Given the description of an element on the screen output the (x, y) to click on. 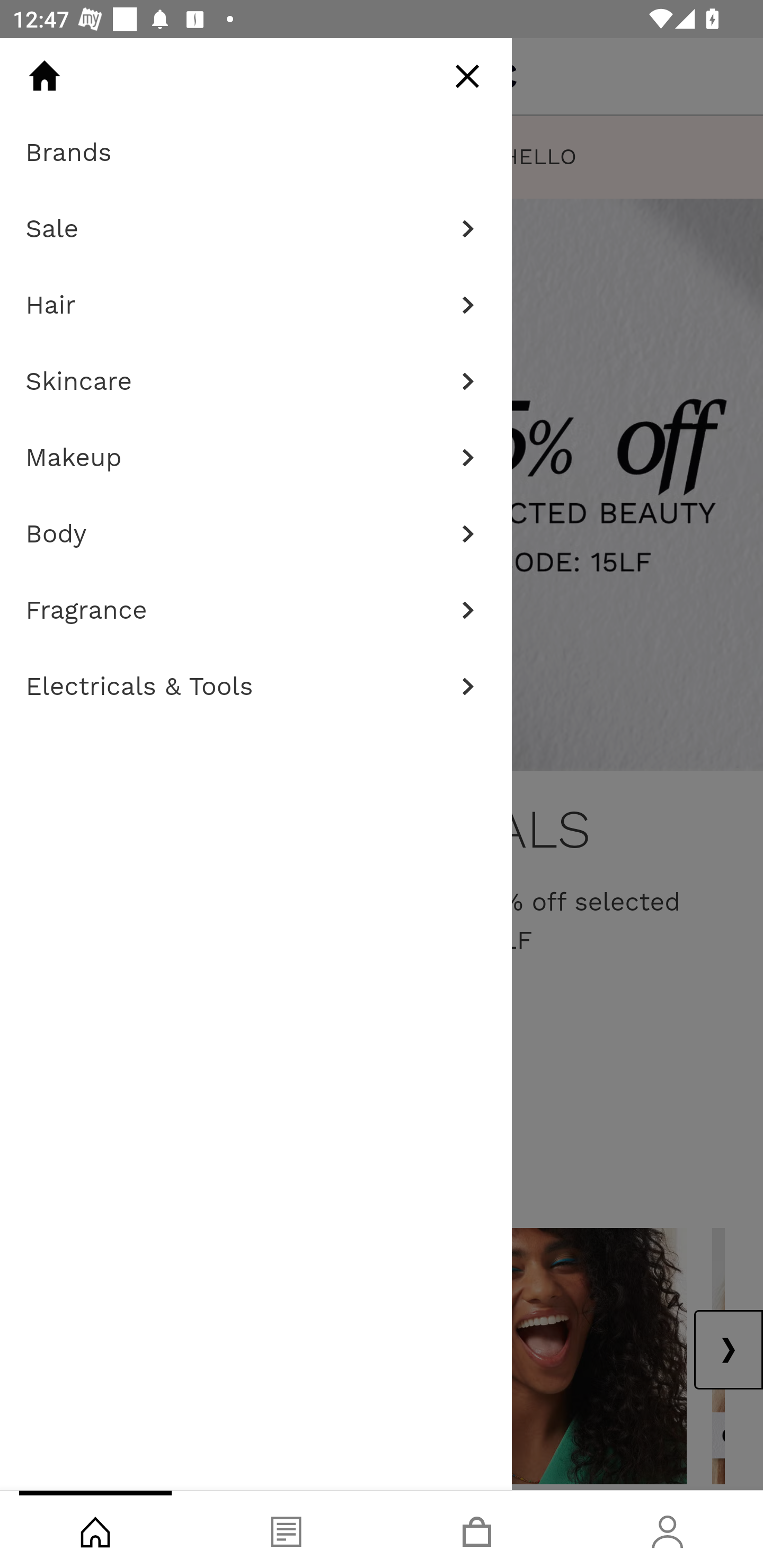
Home (44, 75)
Close Menu (467, 75)
Brands (255, 152)
Sale (255, 228)
Hair (255, 304)
Skincare (255, 381)
Makeup (255, 457)
Body (255, 533)
Fragrance (255, 610)
Electricals & Tools (255, 686)
Shop, tab, 1 of 4 (95, 1529)
Blog, tab, 2 of 4 (285, 1529)
Basket, tab, 3 of 4 (476, 1529)
Account, tab, 4 of 4 (667, 1529)
